Given the description of an element on the screen output the (x, y) to click on. 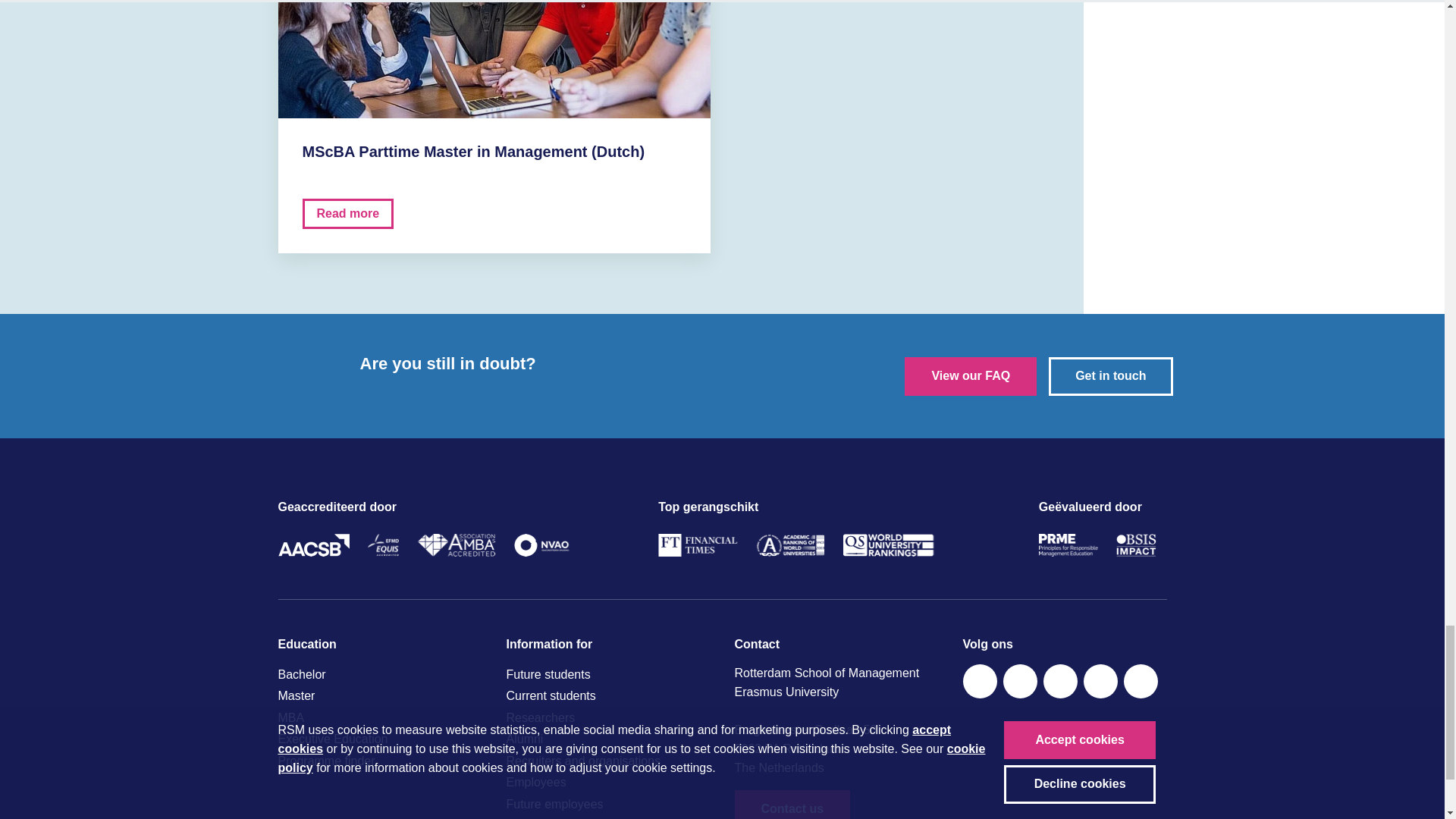
Bachelor (379, 674)
Future students (608, 674)
Programme finder (379, 761)
MBA (379, 717)
Executive Education (379, 739)
Current students (608, 695)
Master (379, 695)
